Given the description of an element on the screen output the (x, y) to click on. 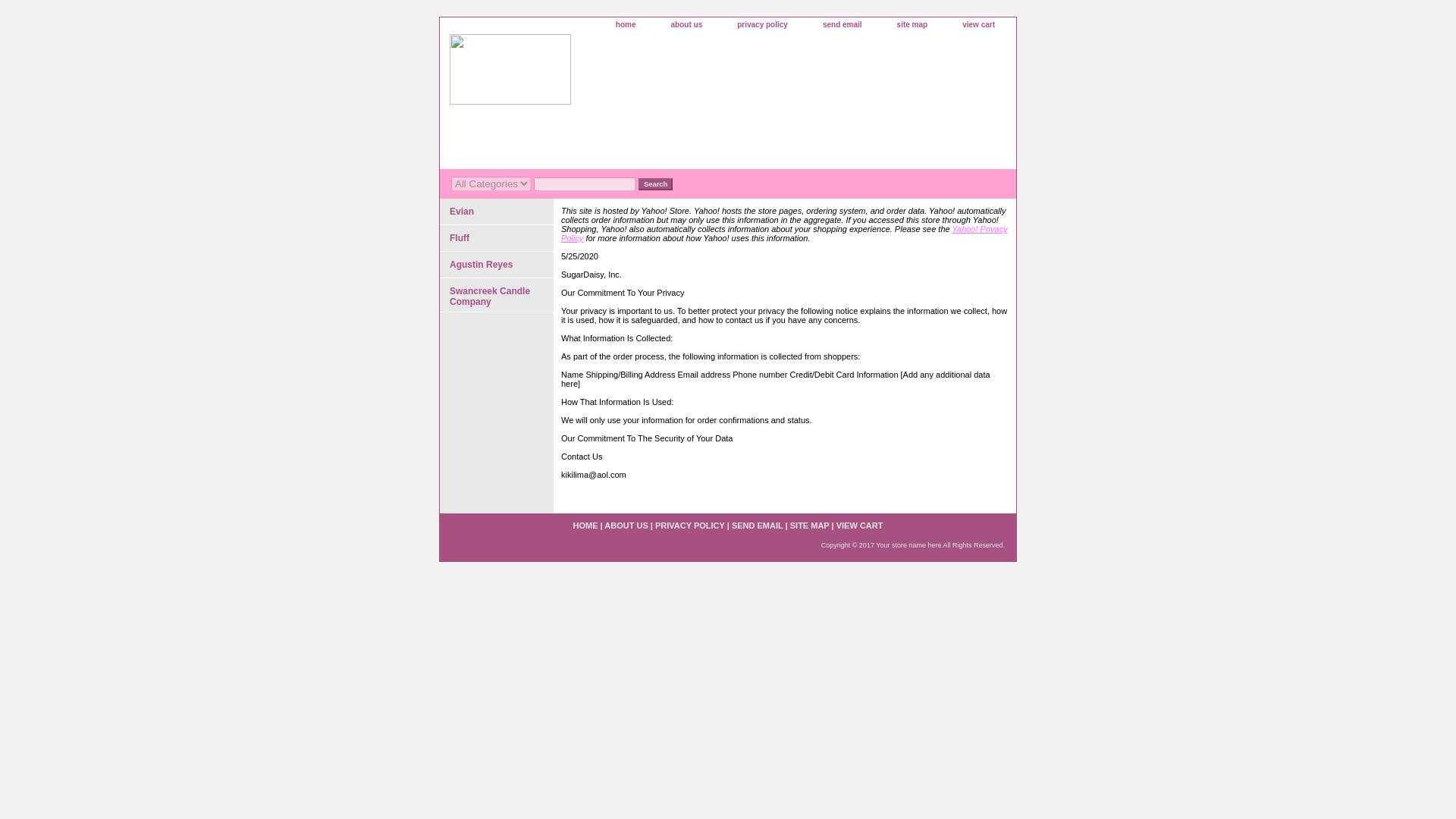
Evian (496, 212)
view cart (978, 25)
Swancreek Candle Company (496, 295)
SEND EMAIL (757, 524)
Search (655, 183)
SITE MAP (809, 524)
Fluff (496, 238)
Yahoo! Privacy Policy (783, 233)
send email (842, 25)
site map (912, 25)
privacy policy (762, 25)
VIEW CART (859, 524)
ABOUT US (625, 524)
Agustin Reyes (496, 264)
Search (655, 183)
